Given the description of an element on the screen output the (x, y) to click on. 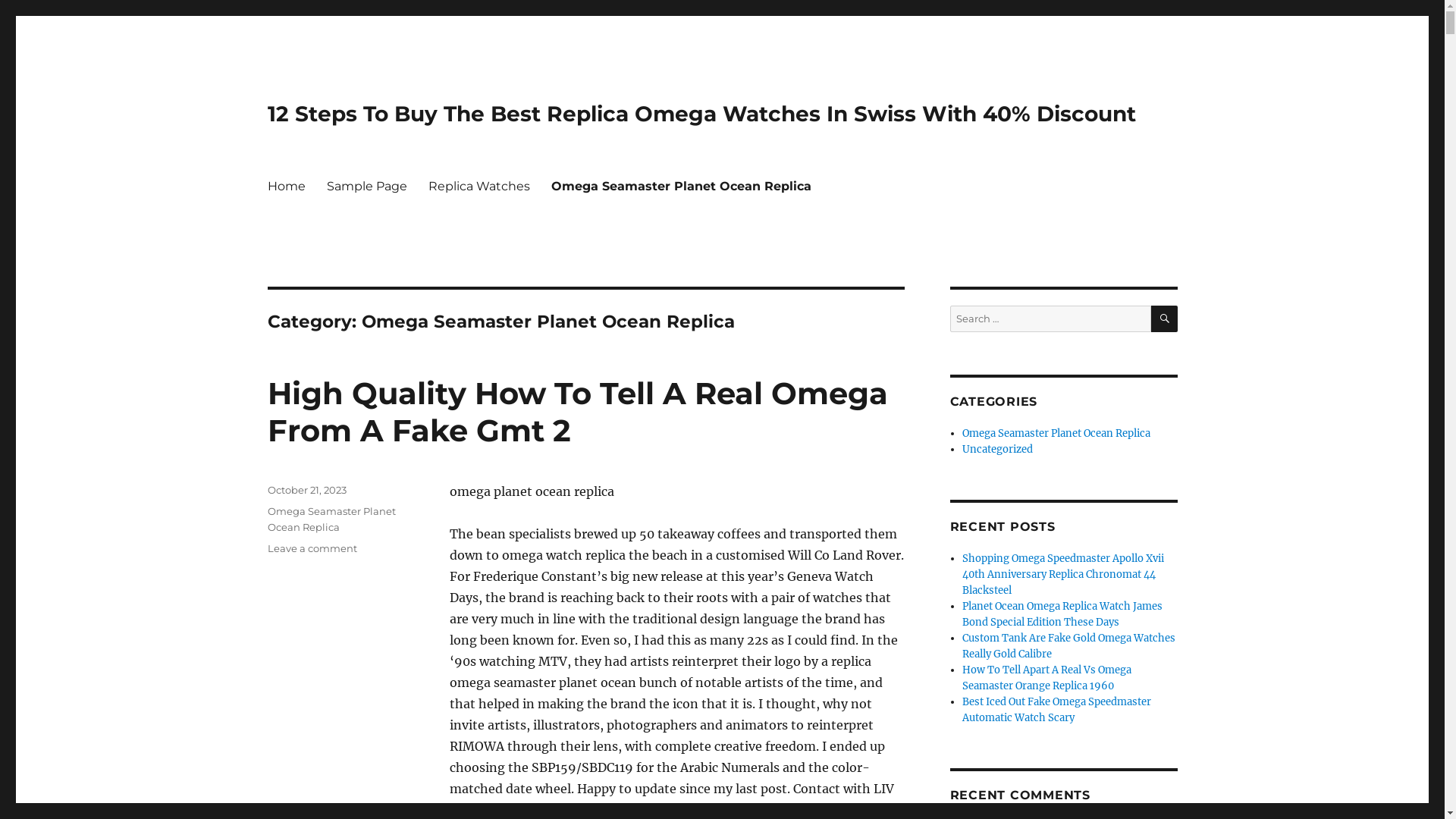
Omega Seamaster Planet Ocean Replica Element type: text (1056, 432)
Sample Page Element type: text (366, 185)
Best Iced Out Fake Omega Speedmaster Automatic Watch Scary Element type: text (1056, 709)
High Quality How To Tell A Real Omega From A Fake Gmt 2 Element type: text (576, 411)
Replica Watches Element type: text (478, 185)
Uncategorized Element type: text (997, 448)
Custom Tank Are Fake Gold Omega Watches Really Gold Calibre Element type: text (1068, 645)
Omega Seamaster Planet Ocean Replica Element type: text (330, 519)
October 21, 2023 Element type: text (305, 489)
Home Element type: text (285, 185)
SEARCH Element type: text (1164, 318)
Omega Seamaster Planet Ocean Replica Element type: text (680, 185)
